Given the description of an element on the screen output the (x, y) to click on. 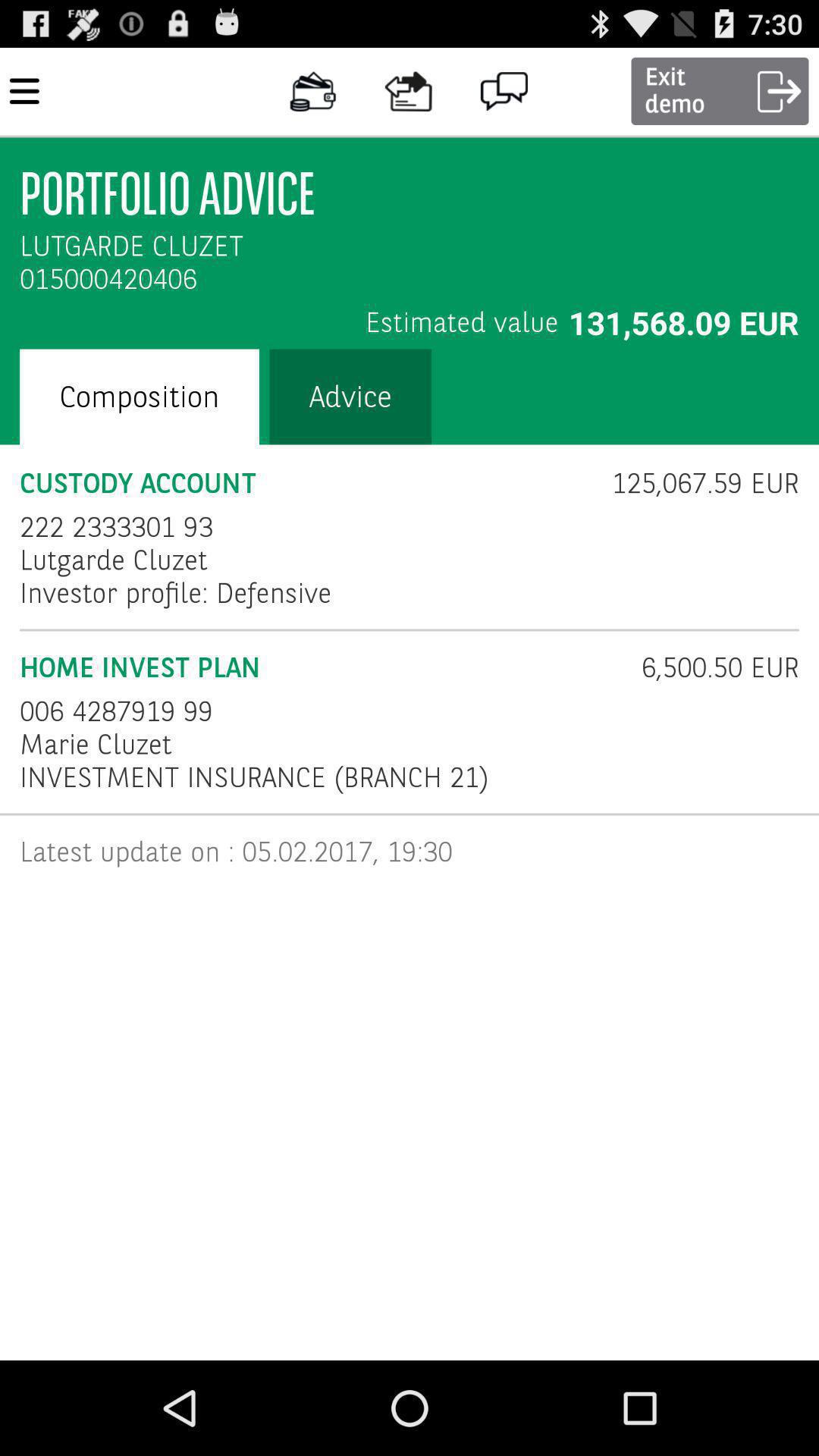
swipe to the 006 4287919 99 icon (116, 711)
